Given the description of an element on the screen output the (x, y) to click on. 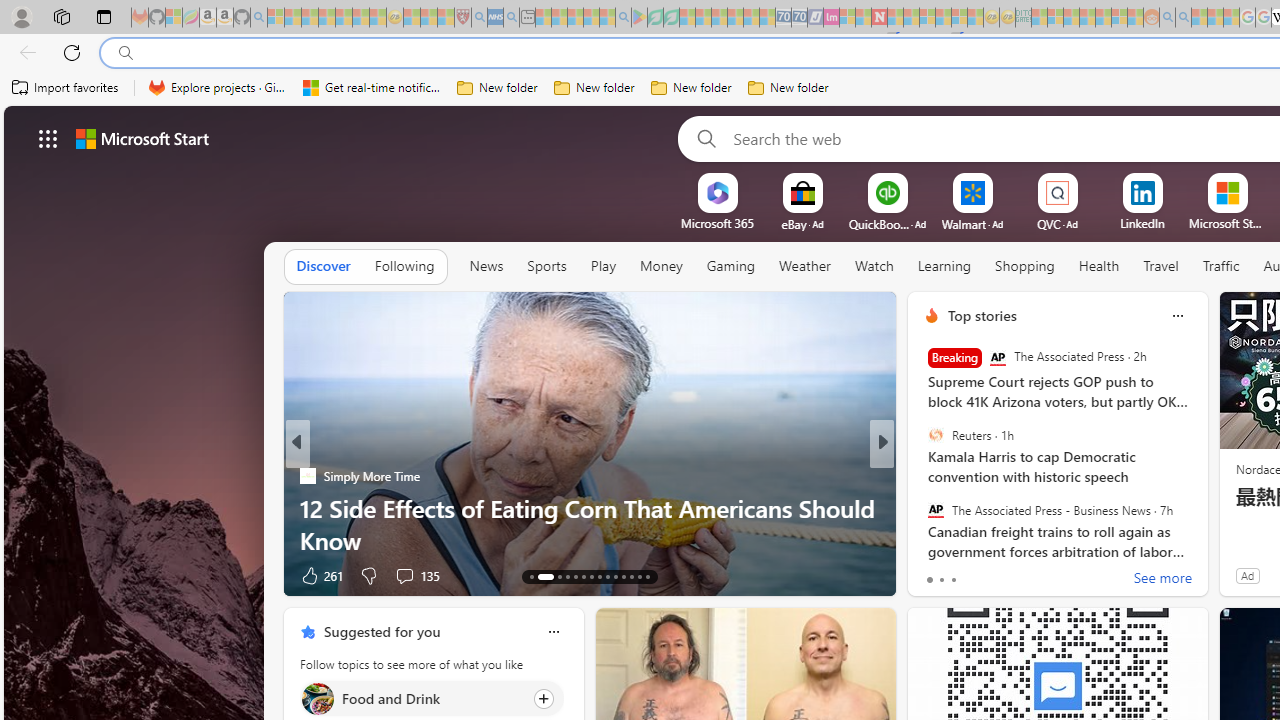
Suggested for you (381, 631)
LinkedIn (1142, 223)
Reuters (935, 435)
AutomationID: tab-20 (599, 576)
